Given the description of an element on the screen output the (x, y) to click on. 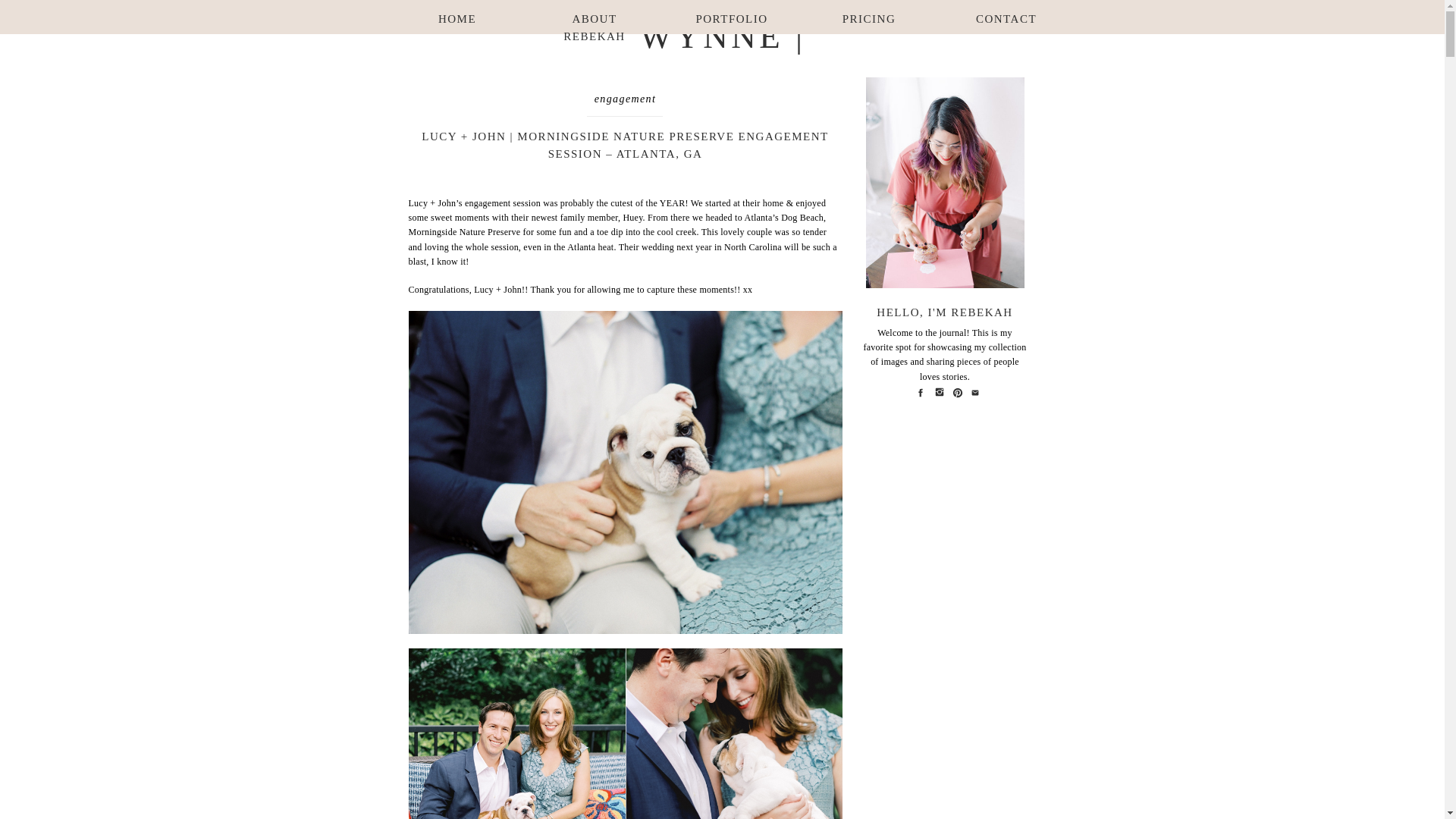
CONTACT (1005, 17)
PRICING (869, 17)
engagement (625, 98)
ABOUT REBEKAH (594, 17)
PORTFOLIO (731, 17)
HOME (456, 17)
